Given the description of an element on the screen output the (x, y) to click on. 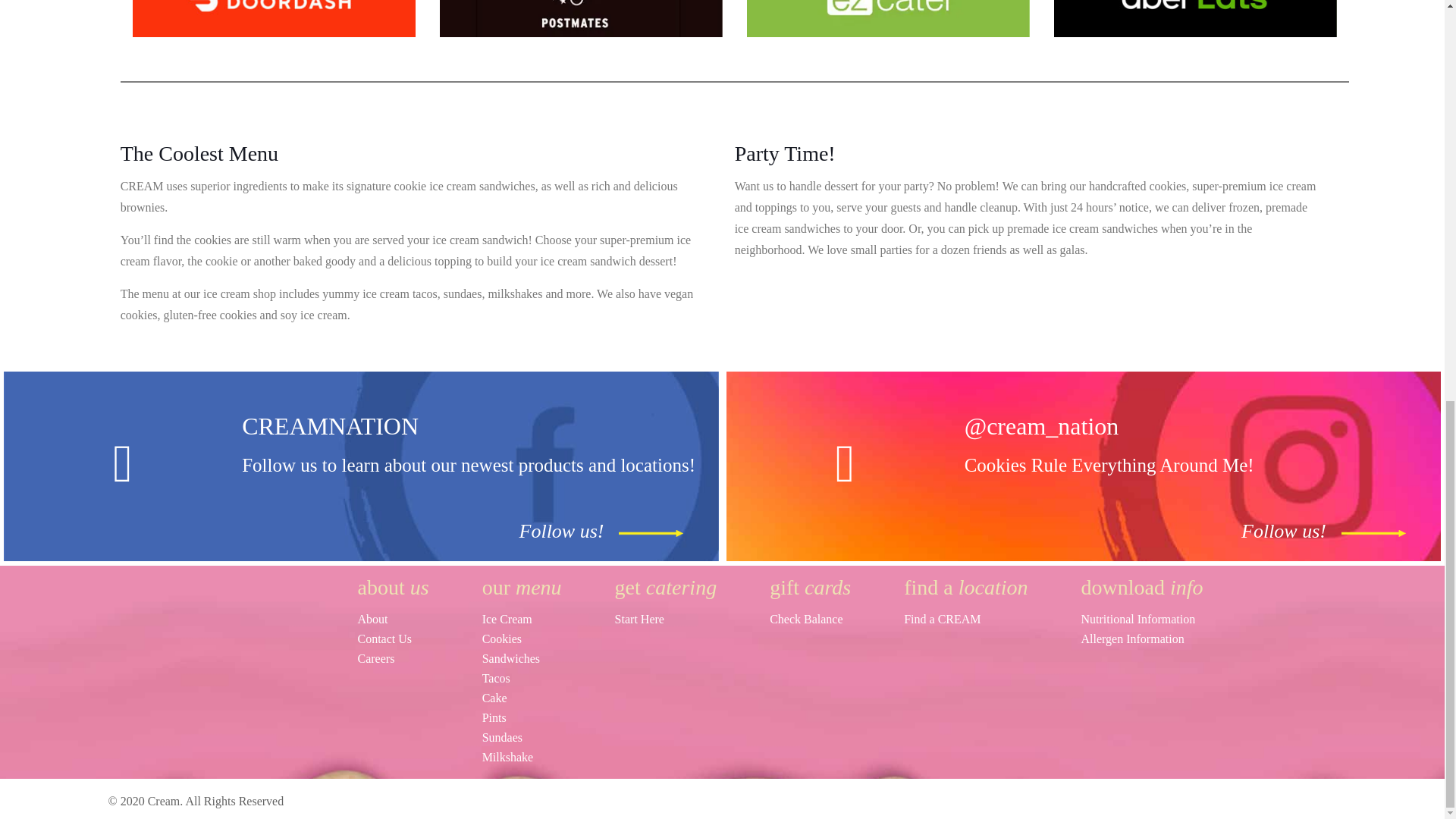
CREAMNATION (330, 425)
Pints (521, 718)
Follow us! (561, 531)
Ice Cream (521, 619)
Cookies (521, 639)
Cake (521, 698)
Follow us! (561, 531)
Sandwiches (521, 659)
Follow us! (1283, 531)
Tacos (521, 678)
Careers (393, 659)
CREAMNATION (330, 425)
Follow us! (1283, 531)
Sundaes (521, 737)
About (393, 619)
